Given the description of an element on the screen output the (x, y) to click on. 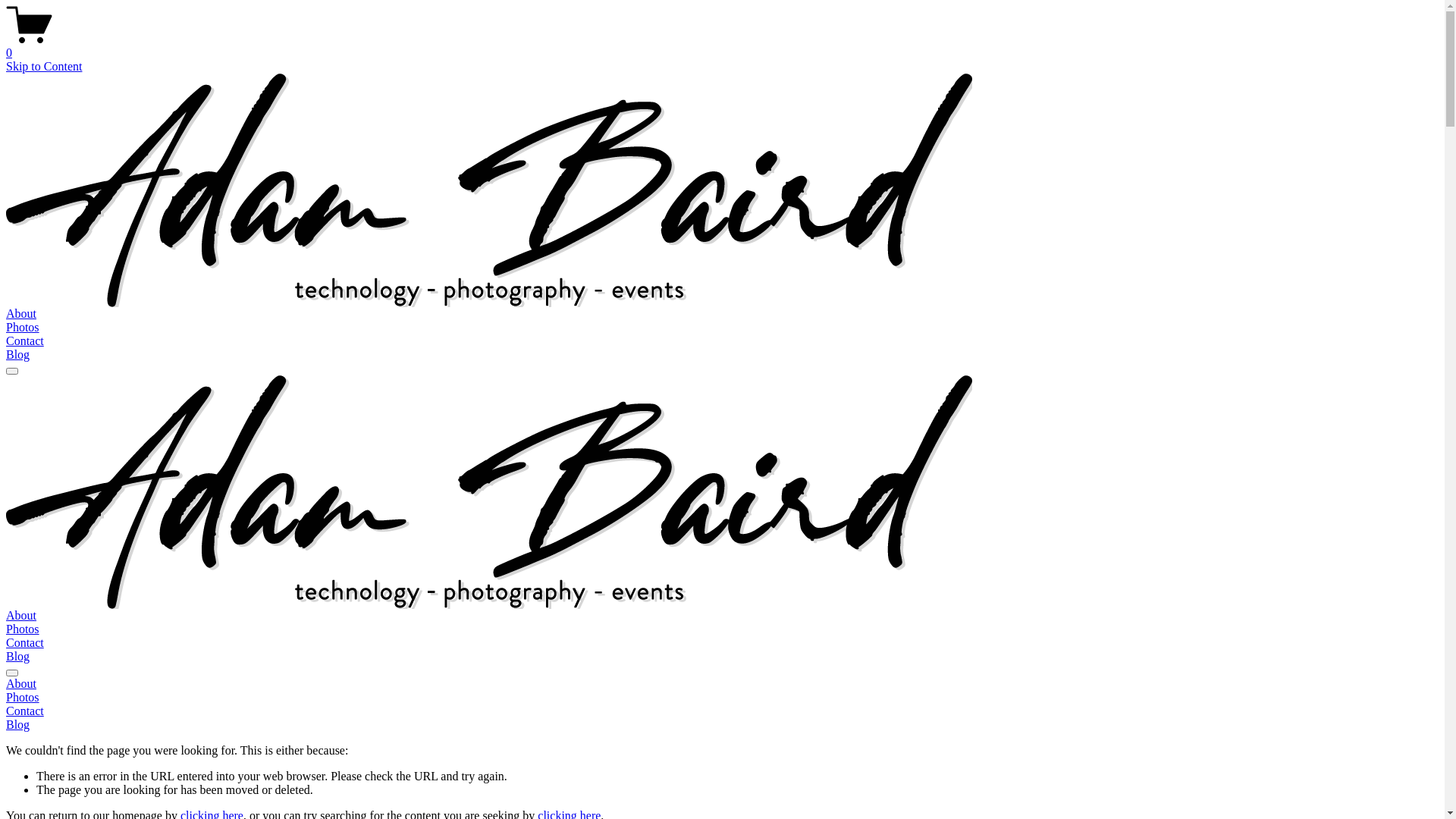
About Element type: text (21, 313)
Contact Element type: text (24, 642)
Skip to Content Element type: text (43, 65)
0 Element type: text (722, 45)
About Element type: text (722, 683)
Contact Element type: text (722, 711)
About Element type: text (21, 614)
Photos Element type: text (22, 326)
Contact Element type: text (24, 340)
Photos Element type: text (722, 697)
Blog Element type: text (722, 724)
Blog Element type: text (17, 655)
Blog Element type: text (17, 354)
Photos Element type: text (22, 628)
